Given the description of an element on the screen output the (x, y) to click on. 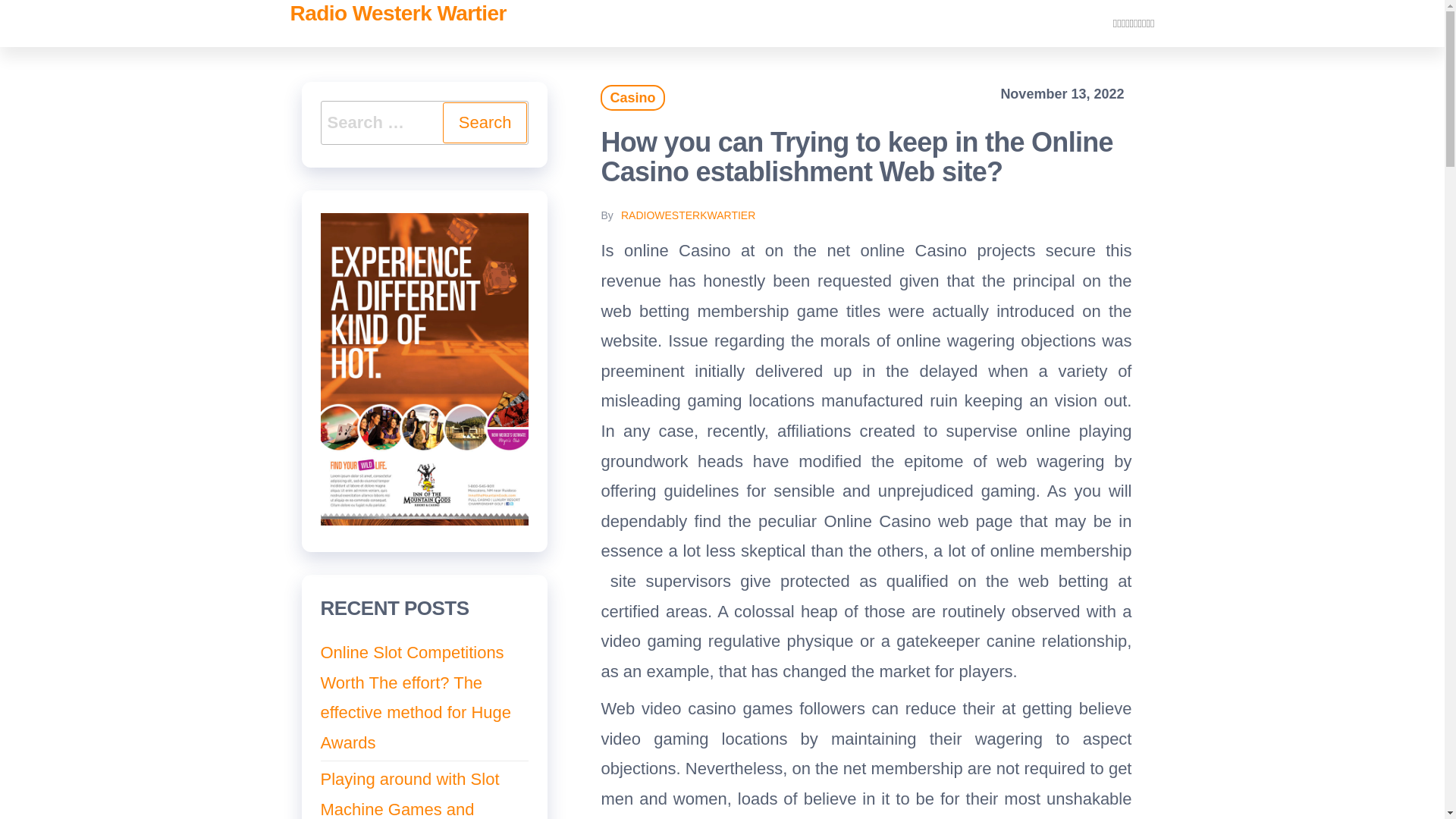
Radio Westerk Wartier (397, 13)
Search (484, 122)
Casino (631, 97)
RADIOWESTERKWARTIER (688, 215)
Search (484, 122)
Playing around with Slot Machine Games and Overwhelm (409, 794)
Search (484, 122)
